Given the description of an element on the screen output the (x, y) to click on. 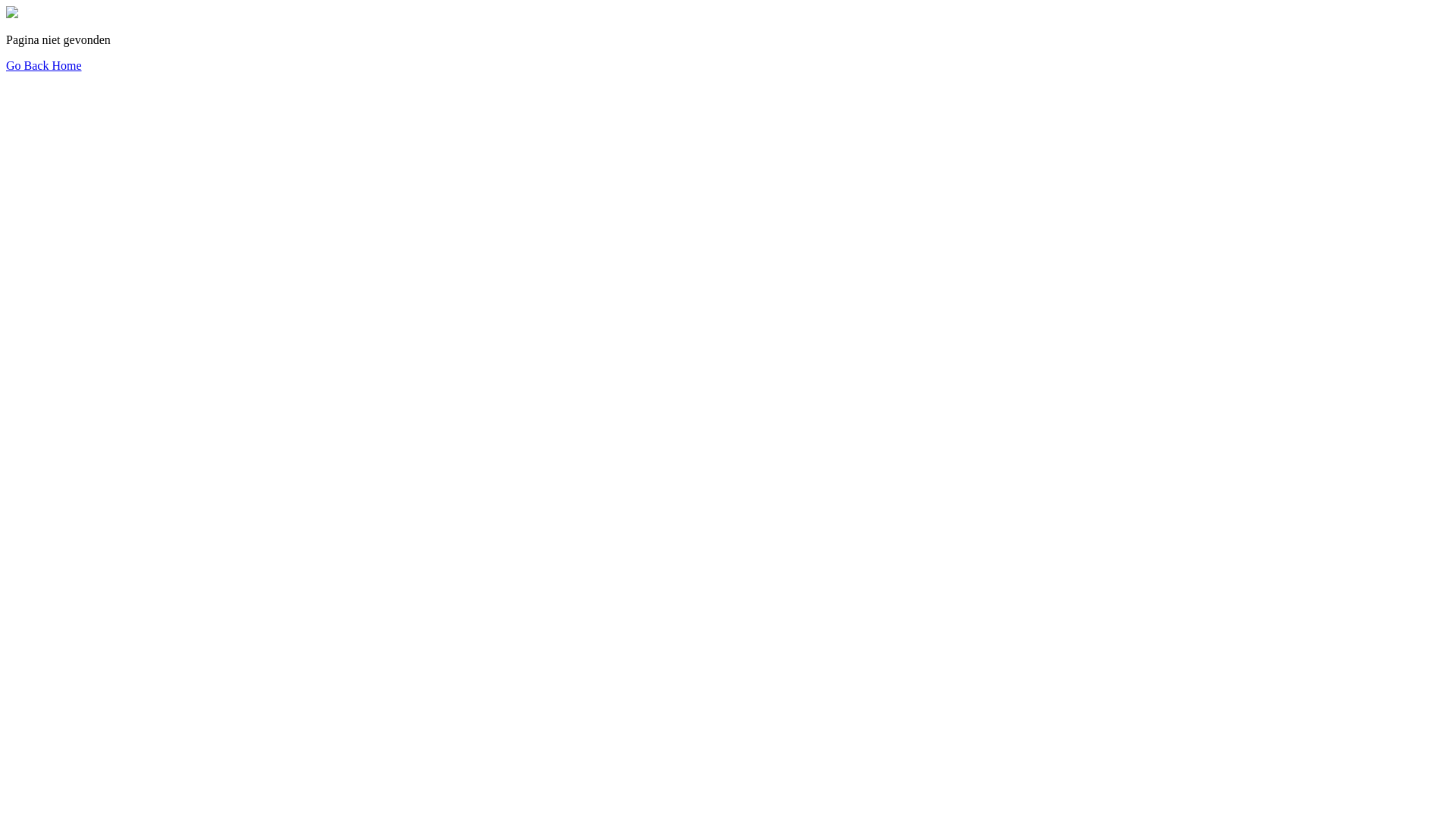
Go Back Home Element type: text (43, 65)
